Given the description of an element on the screen output the (x, y) to click on. 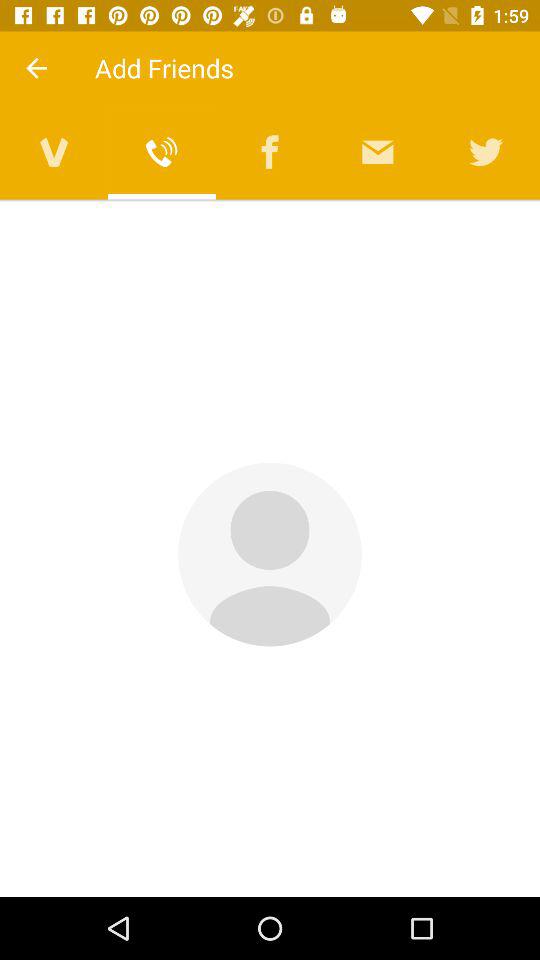
messages (378, 152)
